Given the description of an element on the screen output the (x, y) to click on. 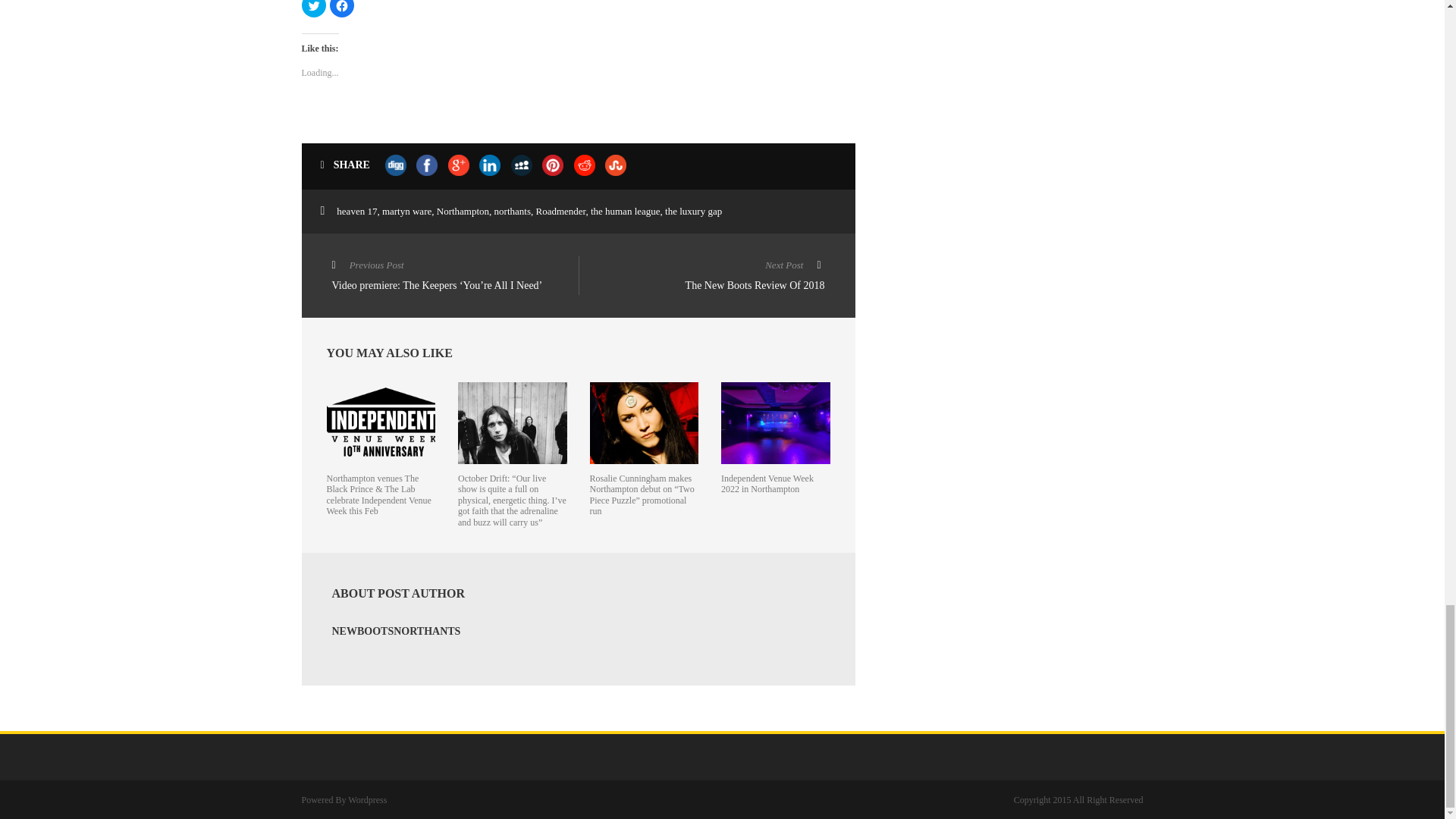
Click to share on Facebook (341, 8)
Posts by Newbootsnorthants (396, 631)
Click to share on Twitter (313, 8)
